Given the description of an element on the screen output the (x, y) to click on. 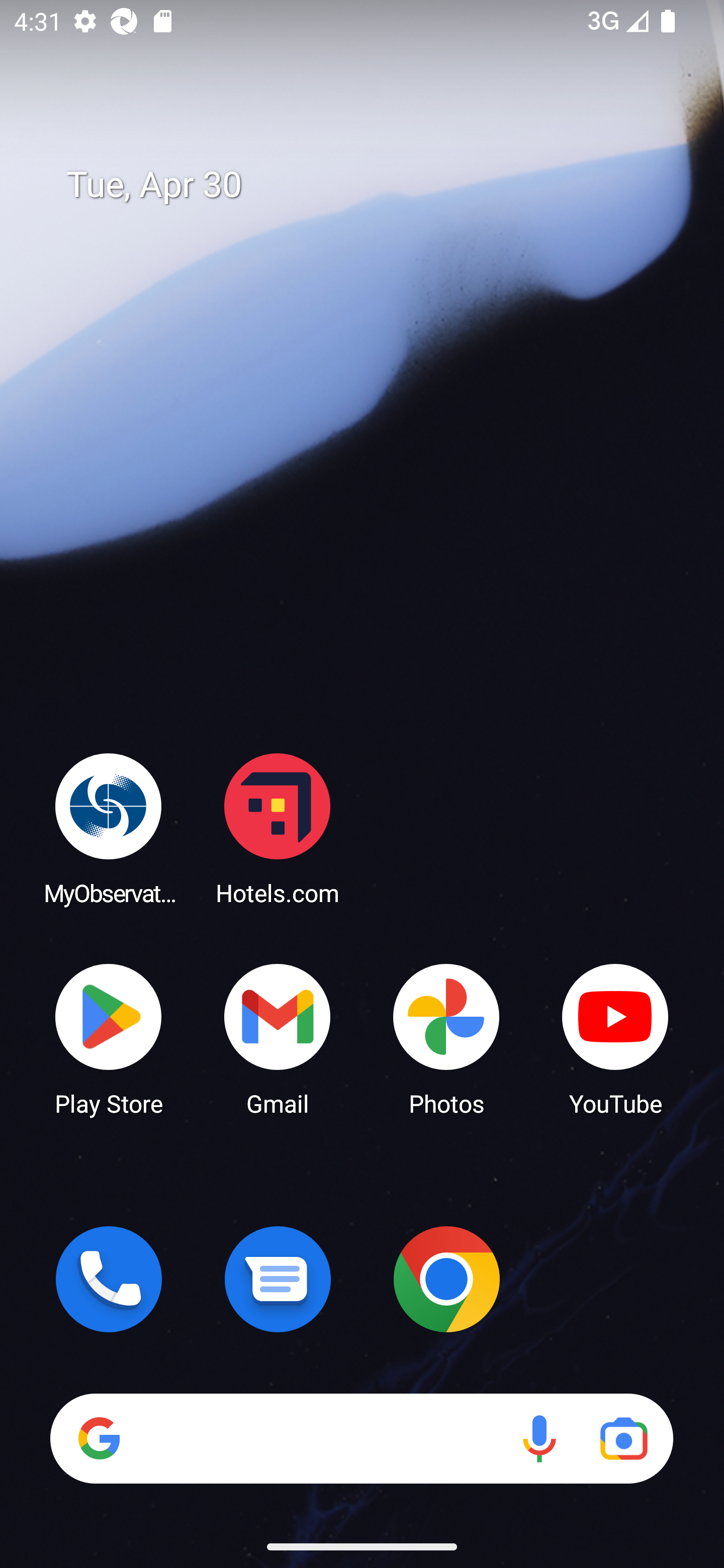
Tue, Apr 30 (375, 184)
MyObservatory (108, 828)
Hotels.com (277, 828)
Play Store (108, 1038)
Gmail (277, 1038)
Photos (445, 1038)
YouTube (615, 1038)
Phone (108, 1279)
Messages (277, 1279)
Chrome (446, 1279)
Search Voice search Google Lens (361, 1438)
Voice search (539, 1438)
Google Lens (623, 1438)
